Given the description of an element on the screen output the (x, y) to click on. 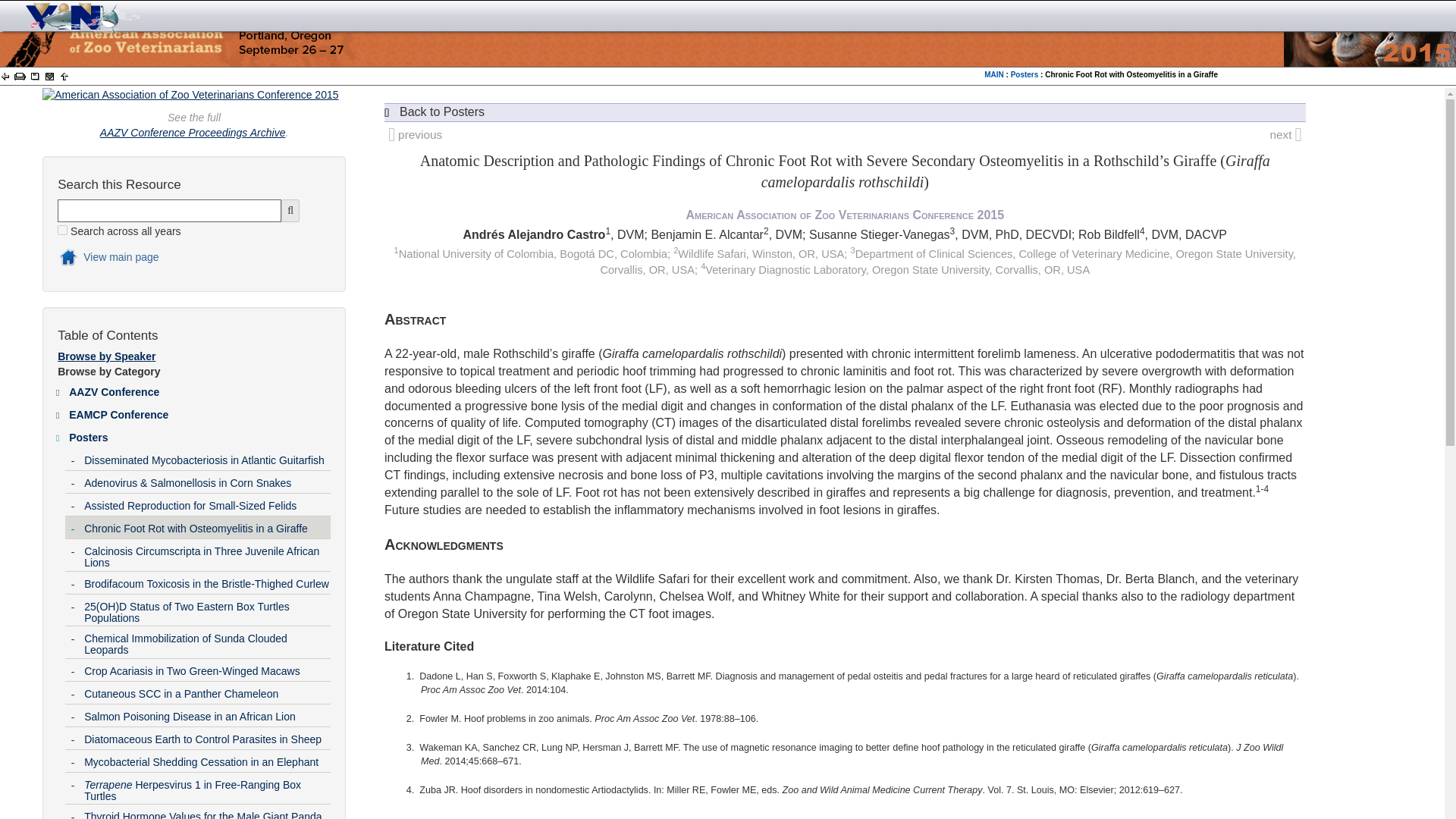
on (62, 230)
